Given the description of an element on the screen output the (x, y) to click on. 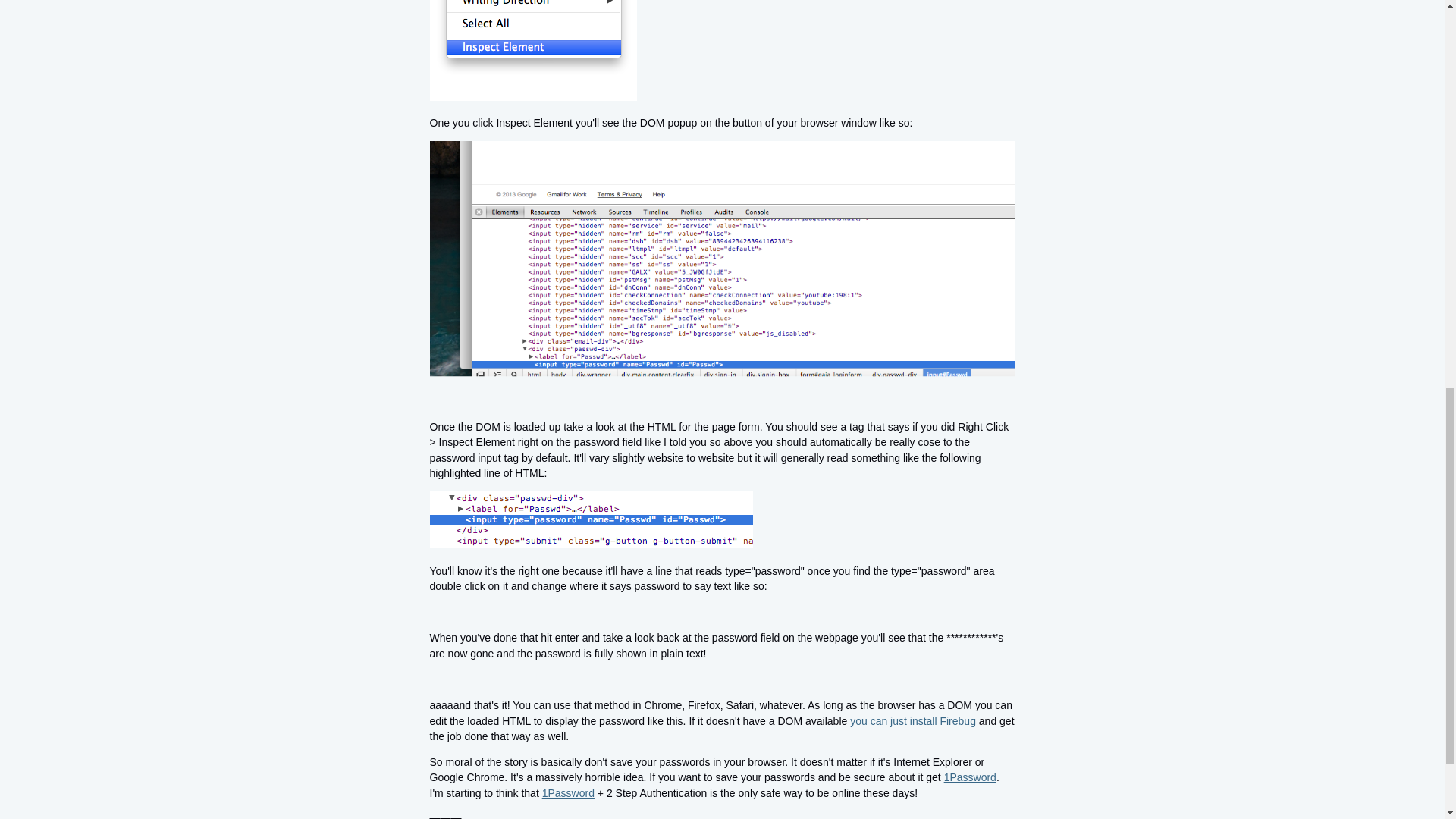
1Password (567, 793)
